Given the description of an element on the screen output the (x, y) to click on. 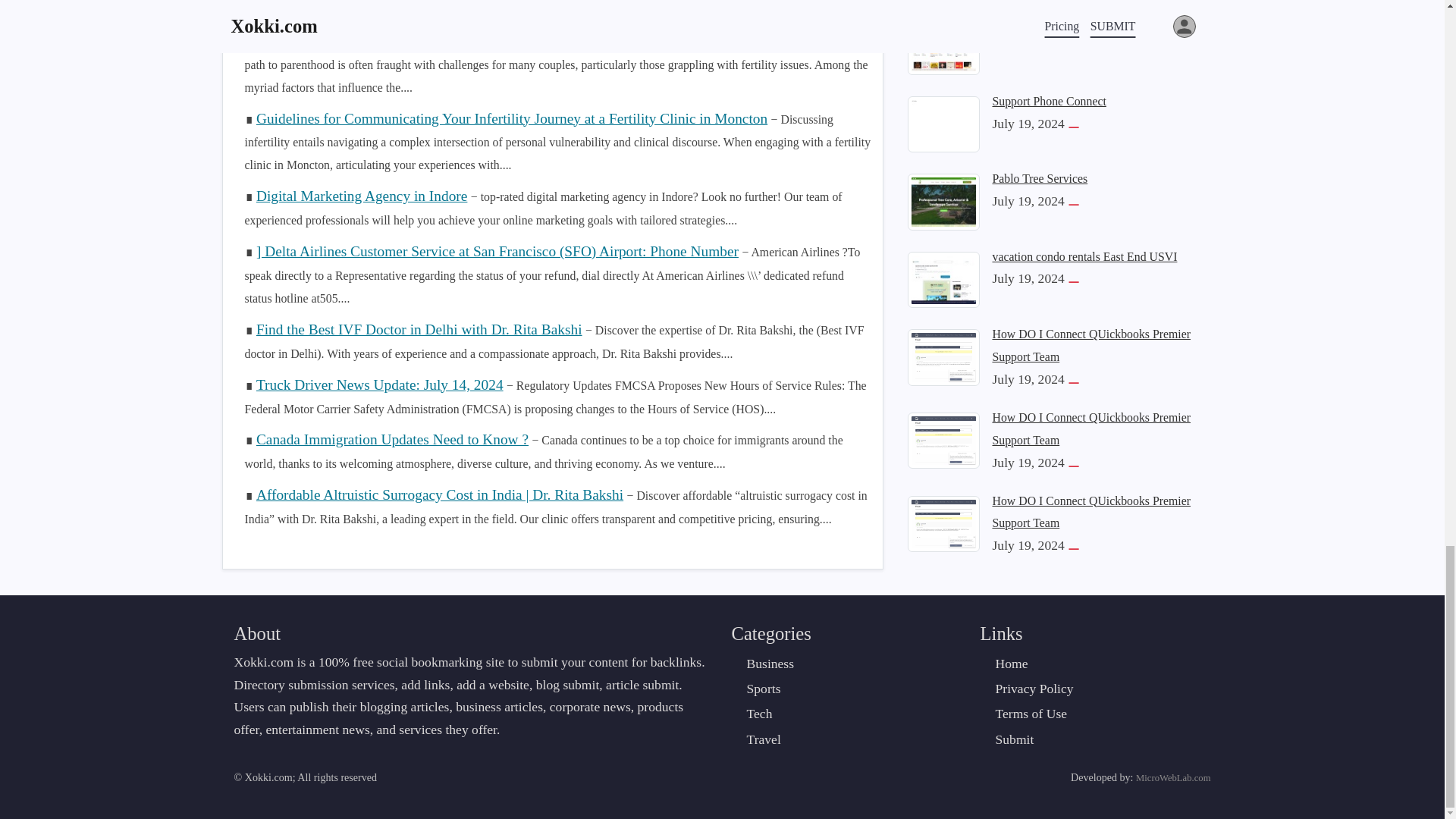
Digital Marketing Agency in Indore (361, 195)
Canada Immigration Updates Need to Know ? (392, 439)
Truck Driver News Update: July 14, 2024 (379, 384)
Find the Best IVF Doctor in Delhi with Dr. Rita Bakshi (419, 329)
